Given the description of an element on the screen output the (x, y) to click on. 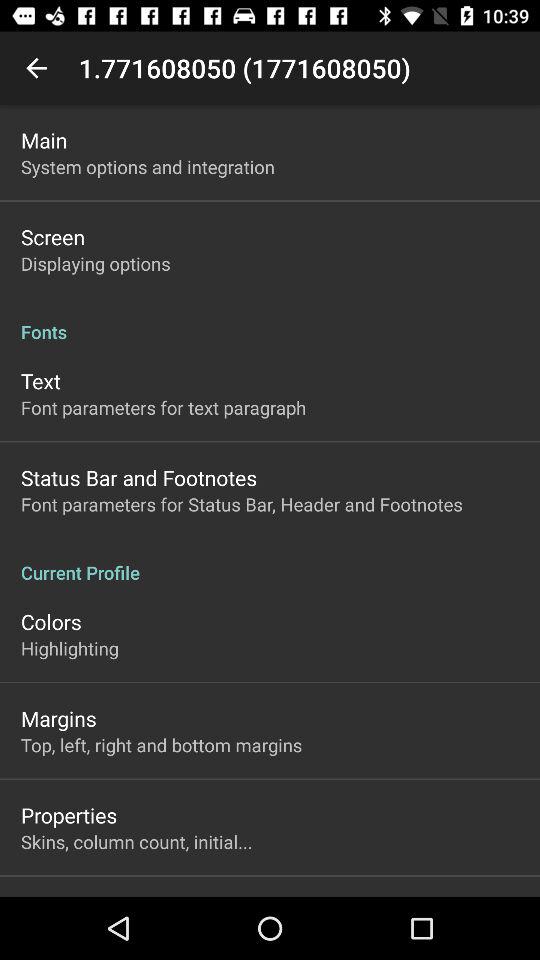
turn off app below the colors (69, 648)
